Given the description of an element on the screen output the (x, y) to click on. 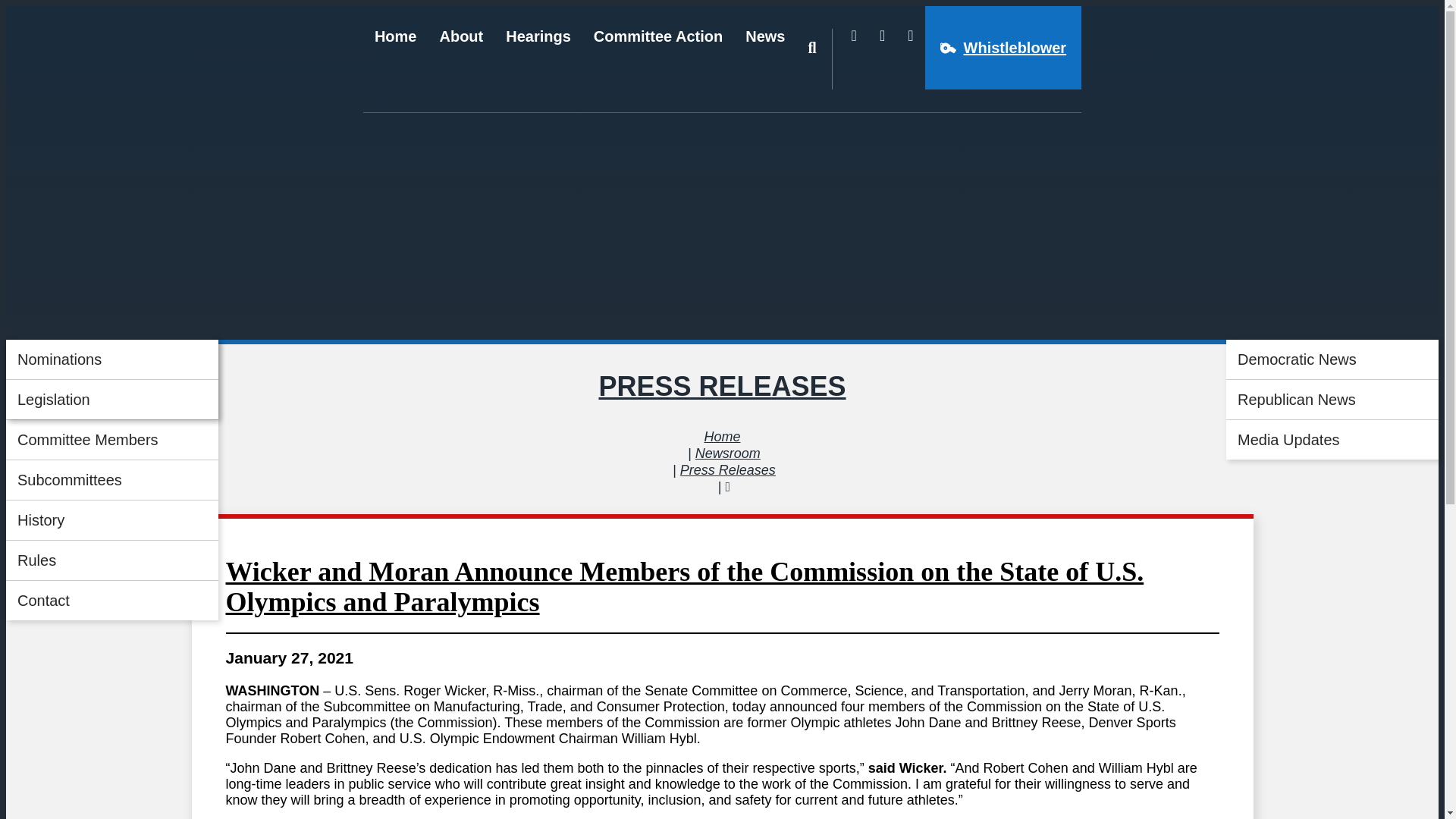
Home (721, 436)
History (111, 519)
PRESS RELEASES (721, 386)
Rules (111, 559)
The Chair (111, 359)
Newsroom (727, 453)
Contact (111, 599)
Committee Members (111, 439)
Subcommittees (111, 479)
Press Releases (727, 469)
Committee Action (657, 58)
Whistleblower (1002, 47)
The Ranking Member (111, 399)
